Given the description of an element on the screen output the (x, y) to click on. 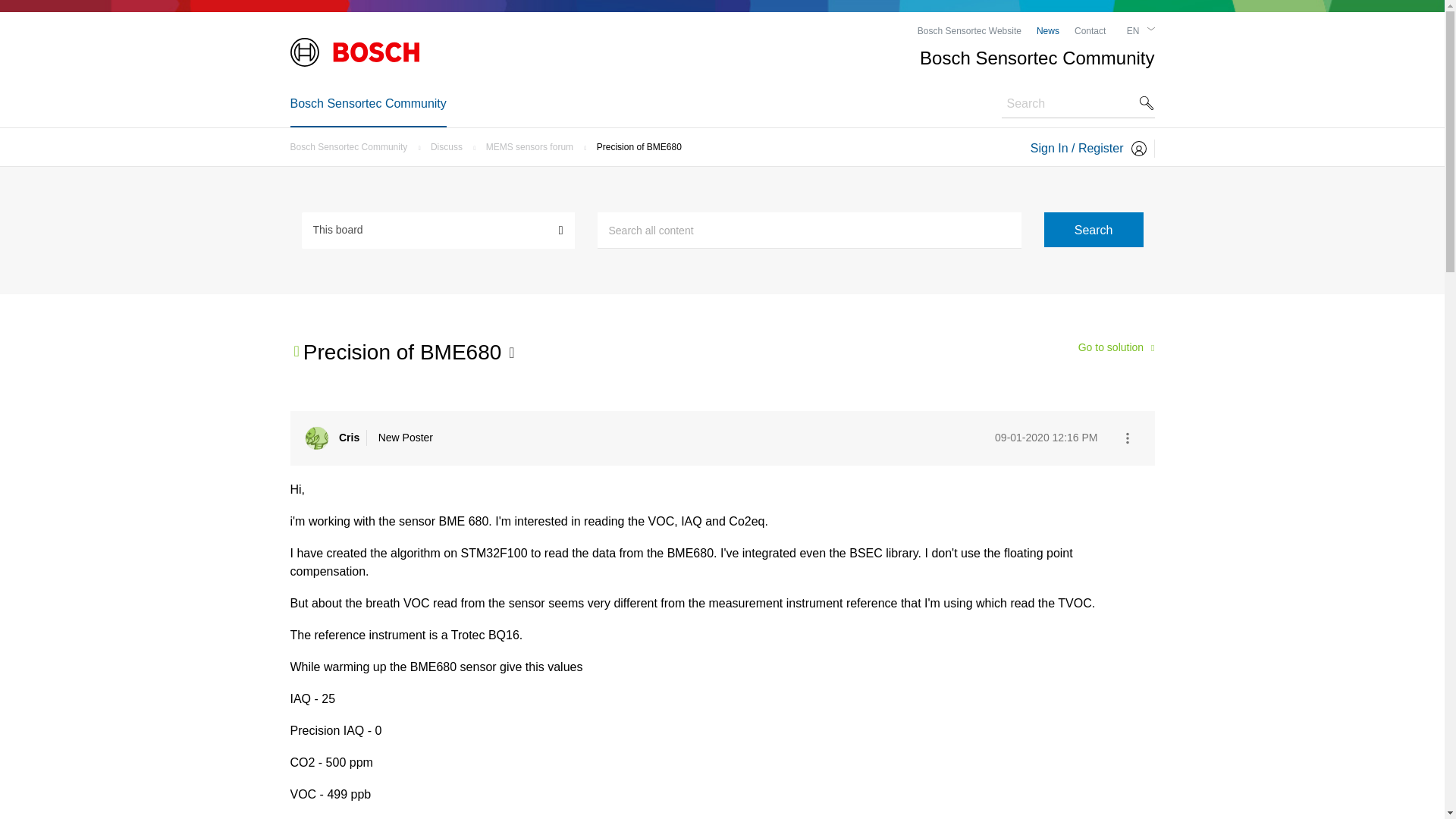
Search (1092, 229)
Search Granularity (438, 229)
Search (809, 230)
Search (1092, 229)
Contact (1089, 30)
Bosch Sensortec Website (969, 30)
Bosch Sensortec Community (351, 146)
Discuss (450, 146)
Icon arrow-down-thin (1150, 28)
Cris (315, 437)
